Given the description of an element on the screen output the (x, y) to click on. 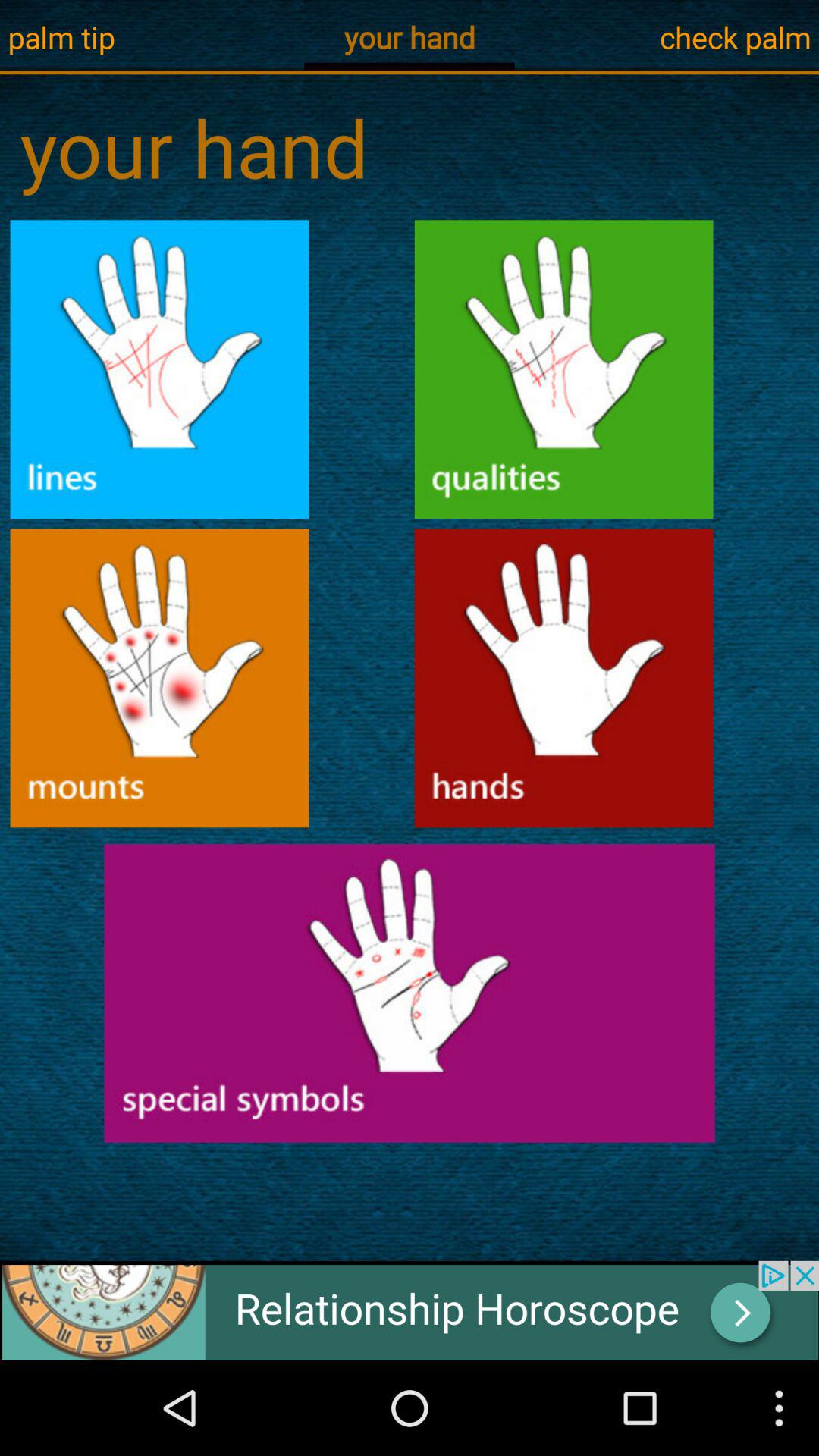
advertisement for relationship horoscope (409, 1310)
